Given the description of an element on the screen output the (x, y) to click on. 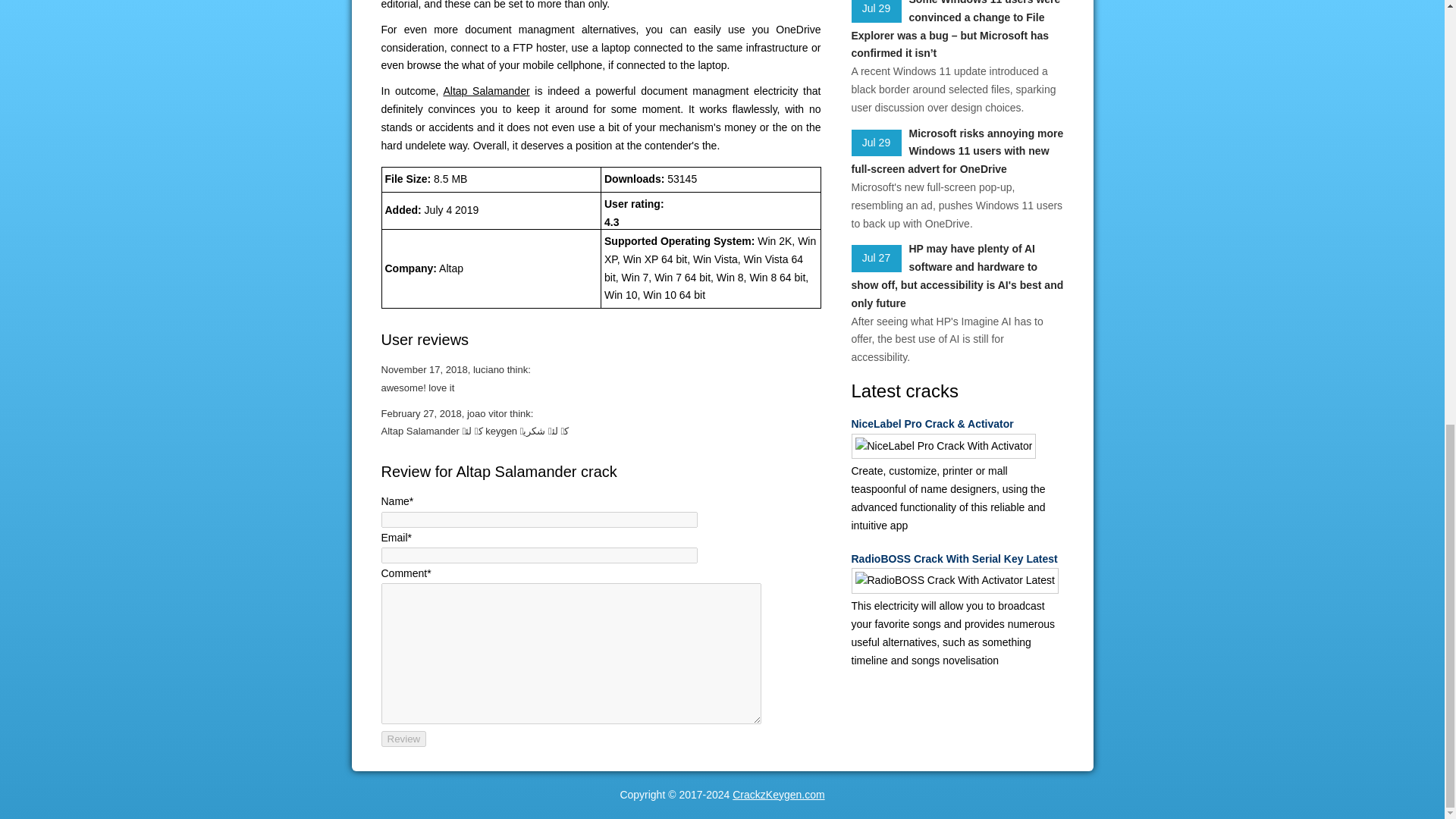
RadioBOSS Crack With Serial Key Latest (956, 559)
Review (403, 738)
Review (403, 738)
CrackzKeygen.com (778, 794)
